Given the description of an element on the screen output the (x, y) to click on. 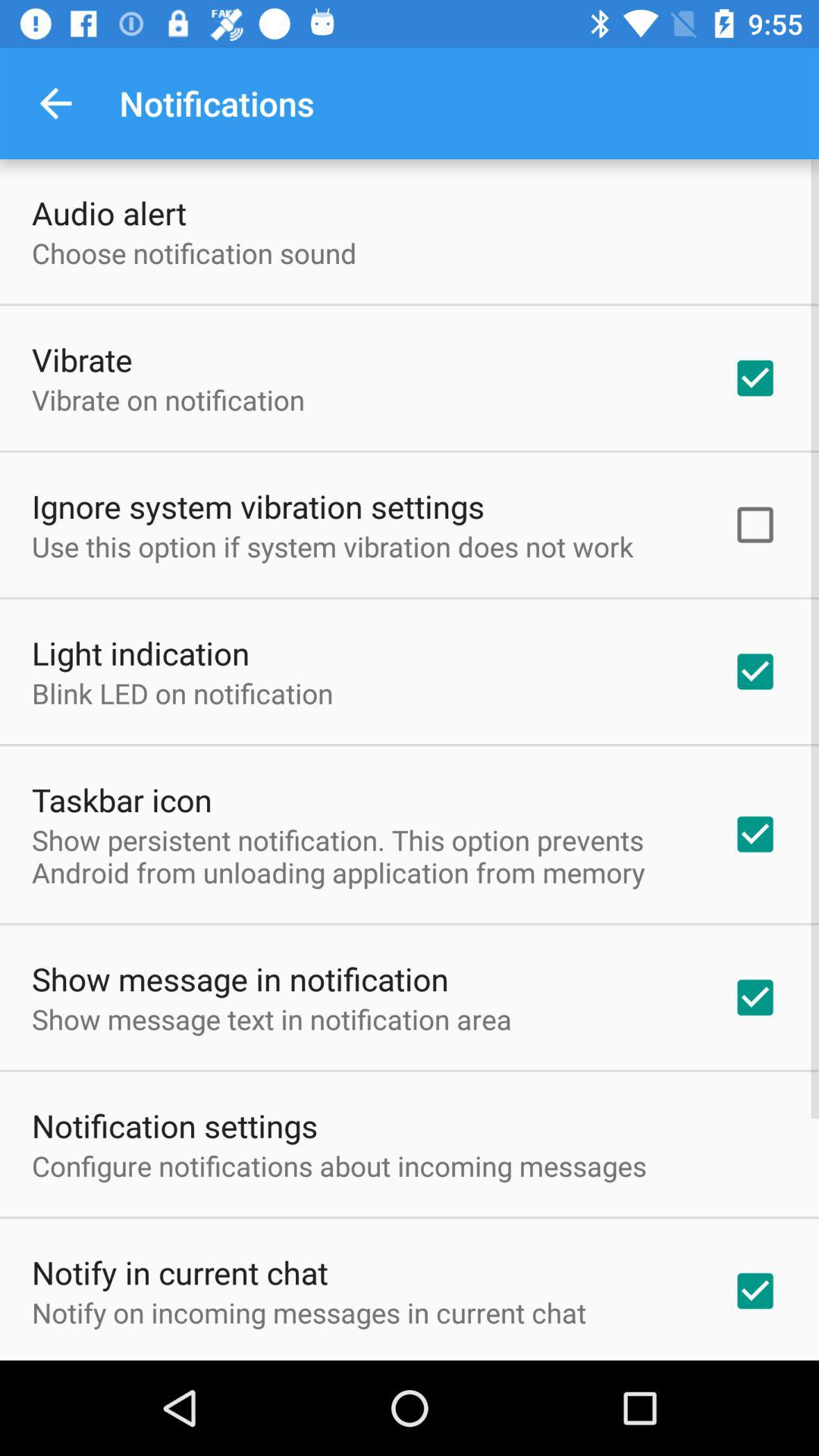
turn on item above the audio alert item (55, 103)
